Given the description of an element on the screen output the (x, y) to click on. 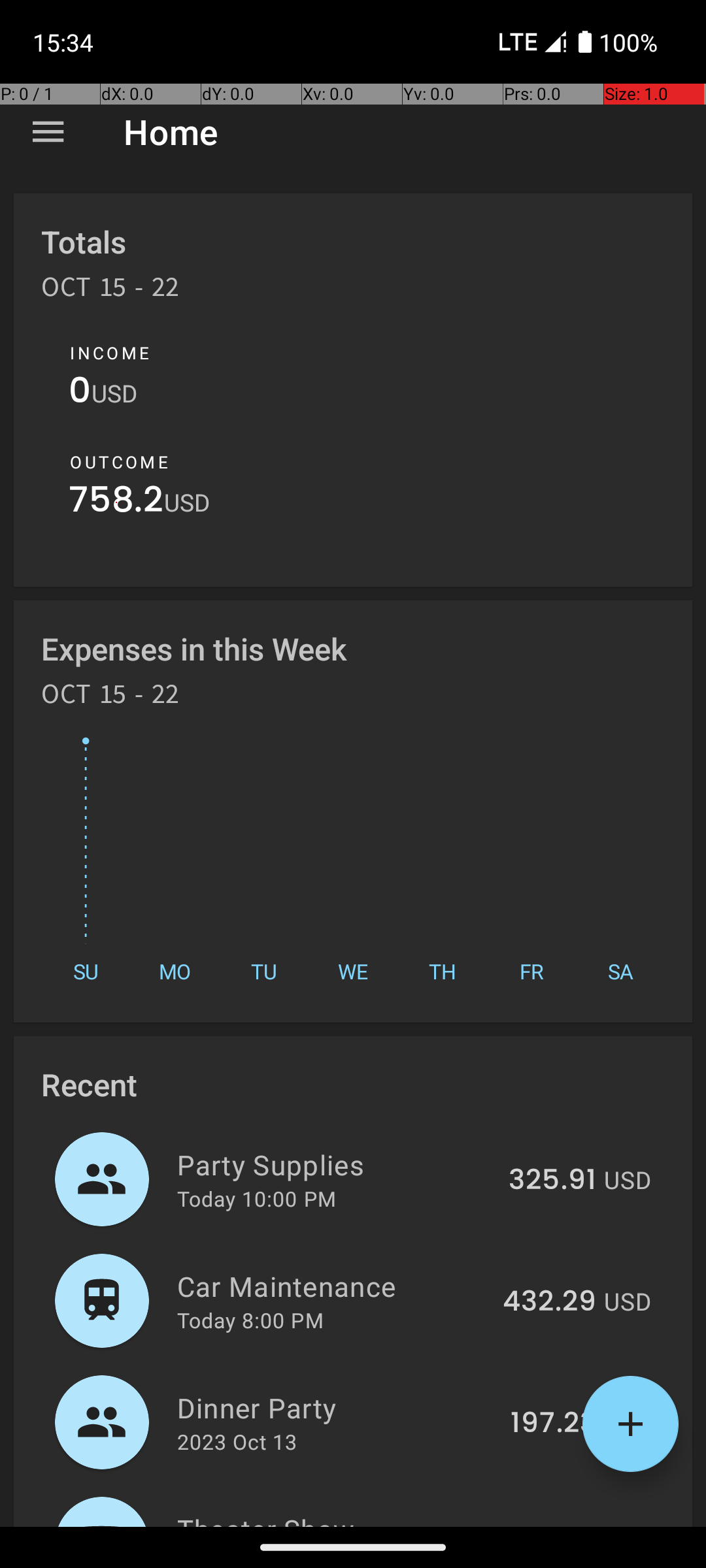
758.2 Element type: android.widget.TextView (116, 502)
325.91 Element type: android.widget.TextView (551, 1180)
Car Maintenance Element type: android.widget.TextView (332, 1285)
432.29 Element type: android.widget.TextView (549, 1301)
Dinner Party Element type: android.widget.TextView (336, 1407)
197.23 Element type: android.widget.TextView (552, 1423)
Theater Show Element type: android.widget.TextView (331, 1518)
353.52 Element type: android.widget.TextView (548, 1524)
